Given the description of an element on the screen output the (x, y) to click on. 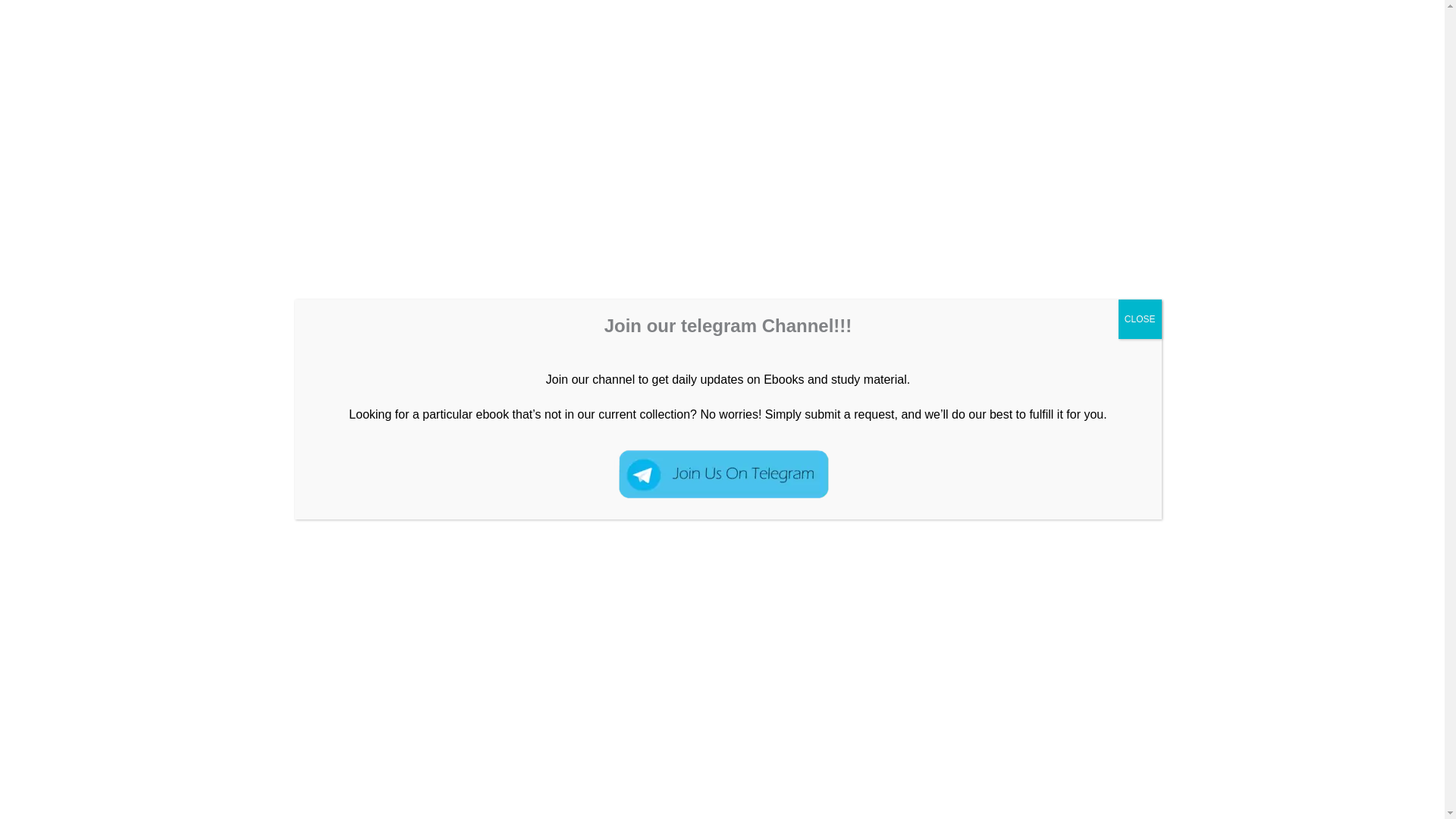
HAND WRITTEN NOTE (370, 291)
CSIR-NET (228, 291)
JIGSSOLANKI (285, 67)
GATE (280, 291)
Leave a Comment (143, 291)
JIGS SOLANKI (555, 291)
CLOSE (1139, 319)
MATHEMATICS (1225, 67)
BIOLOGY (1320, 67)
View all posts by JIGS SOLANKI (555, 291)
CBSE (1388, 67)
PHYSICS (1036, 67)
CHEMISTRY (1122, 67)
MATHS (465, 291)
